Given the description of an element on the screen output the (x, y) to click on. 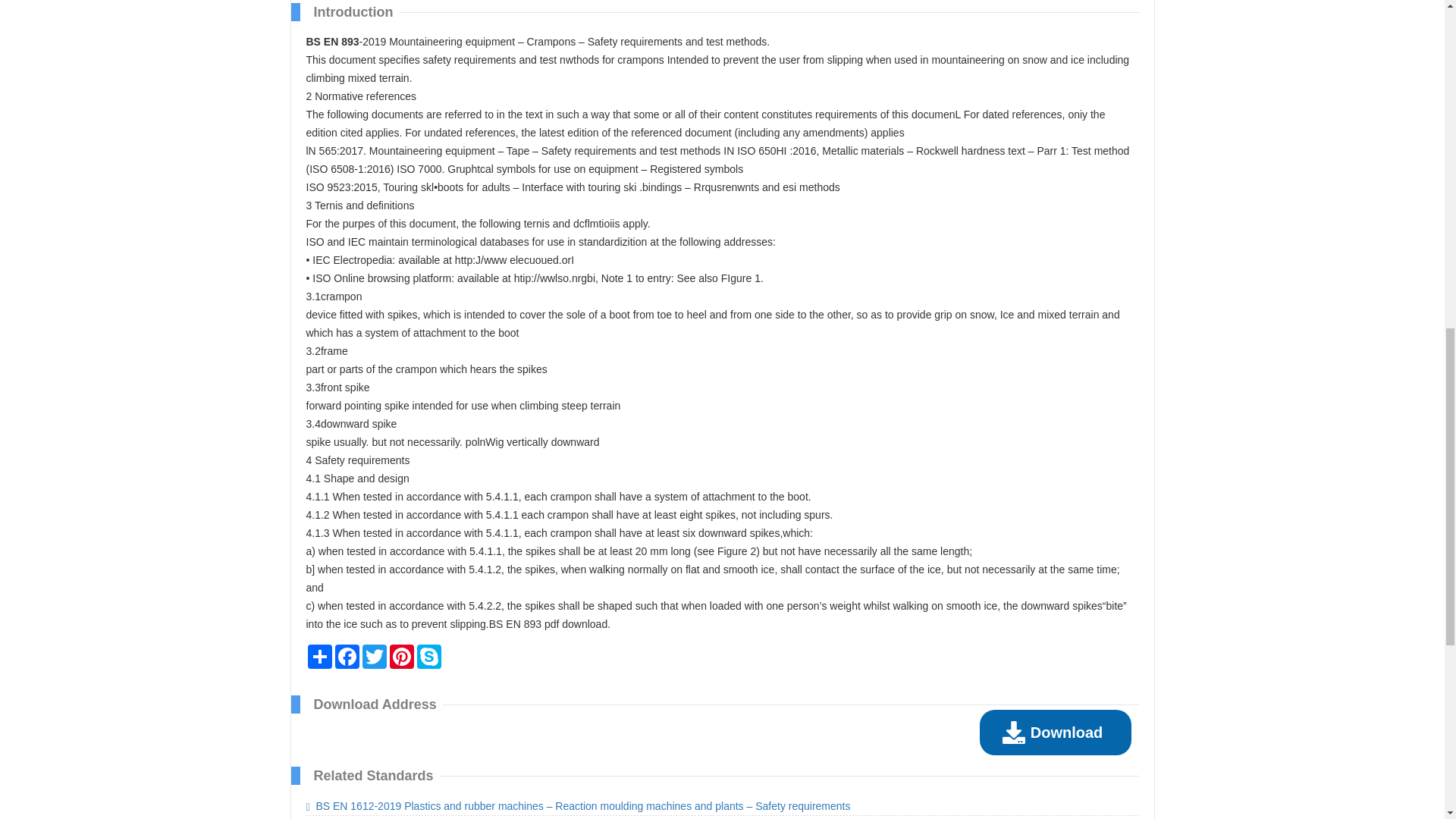
Pinterest (401, 656)
Twitter (374, 656)
Skype (428, 656)
Download (1055, 732)
Facebook (347, 656)
